Given the description of an element on the screen output the (x, y) to click on. 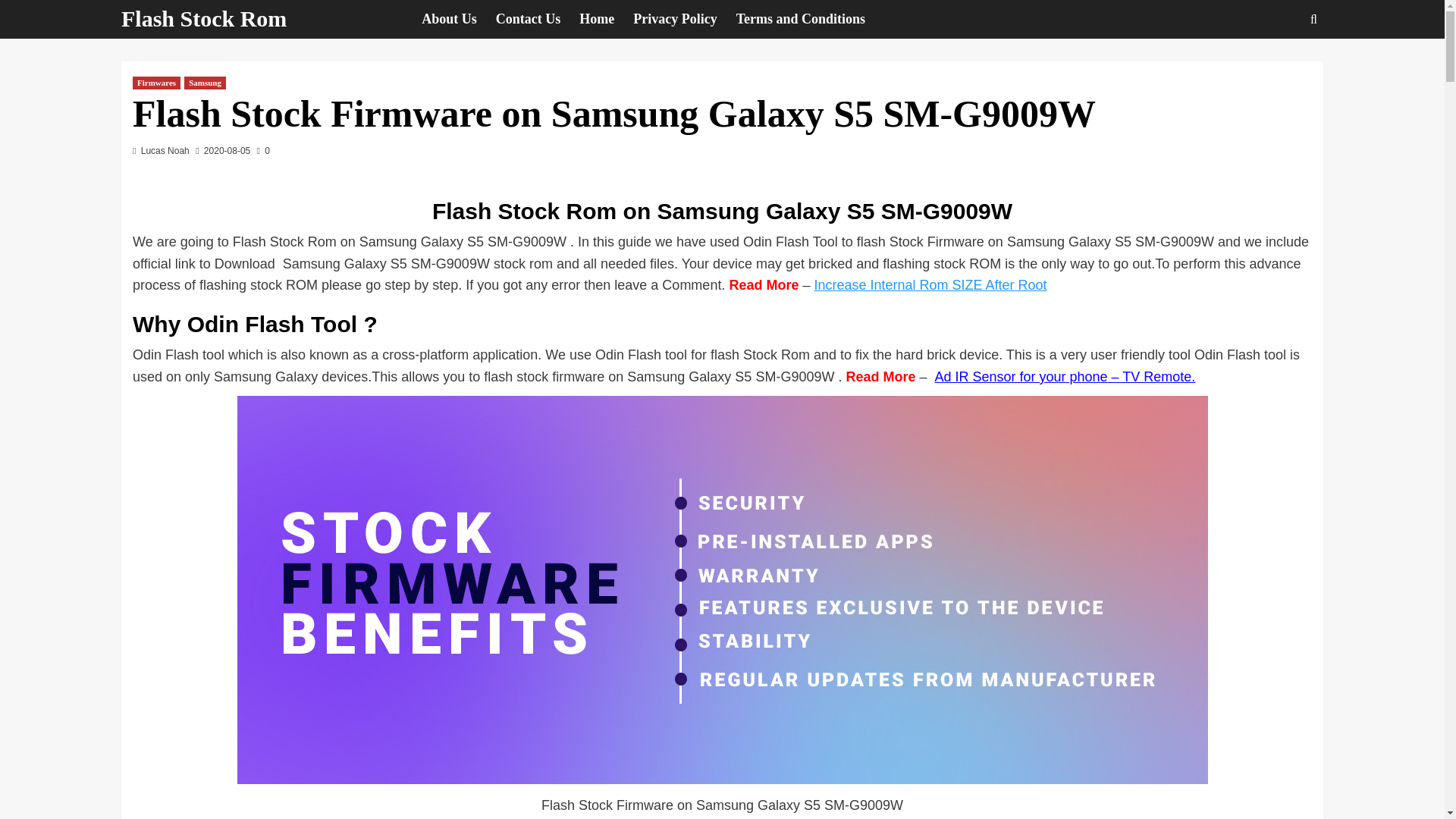
0 (263, 150)
Lucas Noah (165, 150)
2020-08-05 (226, 150)
Samsung (204, 82)
Flash Stock Rom (203, 18)
About Us (459, 19)
Search (1278, 65)
Home (606, 19)
Privacy Policy (684, 19)
Contact Us (537, 19)
Increase Internal Rom SIZE After Root (929, 284)
Firmwares (156, 82)
Terms and Conditions (809, 19)
